Given the description of an element on the screen output the (x, y) to click on. 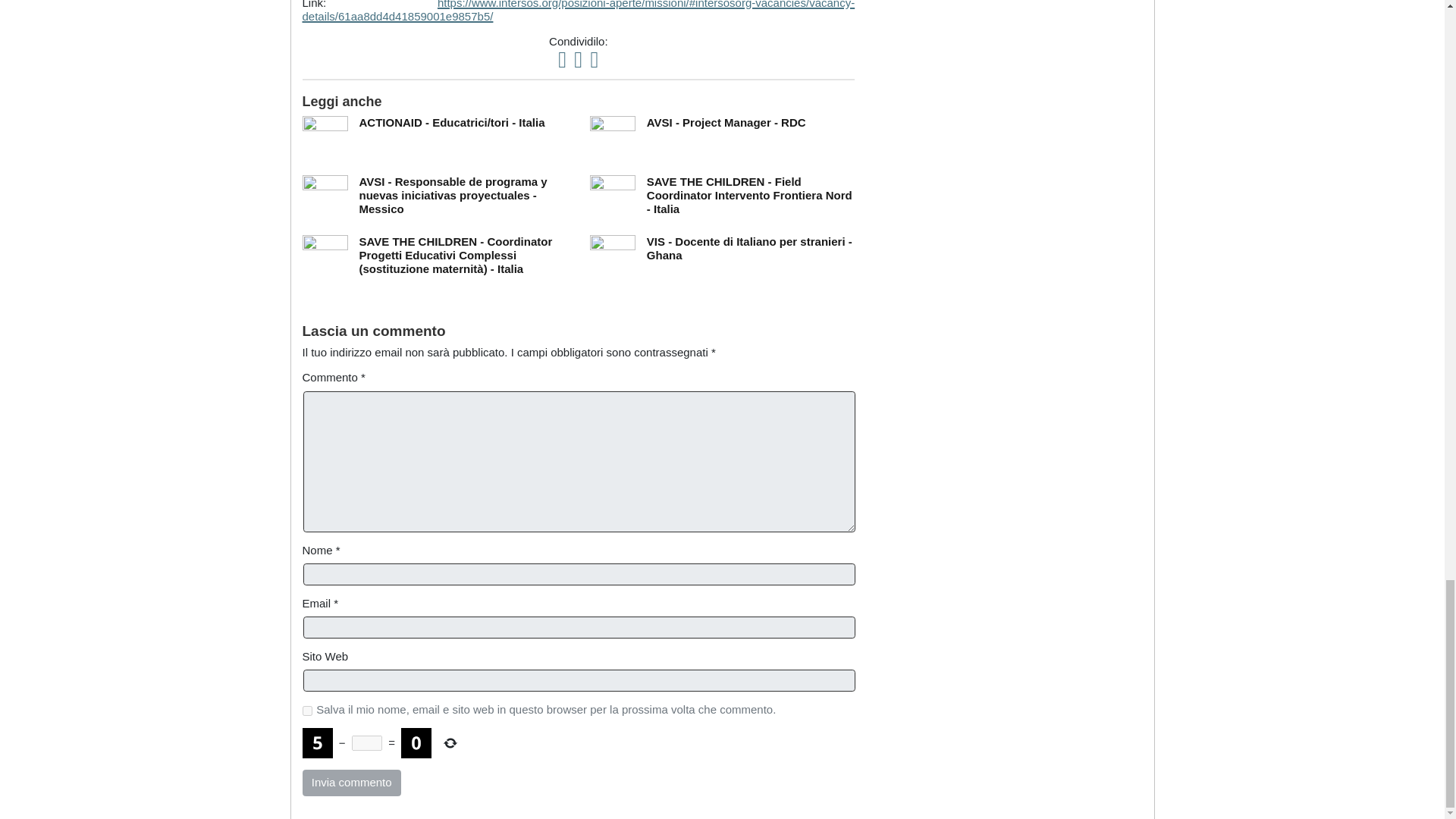
AVSI - Project Manager - RDC (726, 122)
Invia commento (350, 782)
Invia commento (350, 782)
yes (306, 710)
VIS - Docente di Italiano per stranieri - Ghana (748, 248)
